Given the description of an element on the screen output the (x, y) to click on. 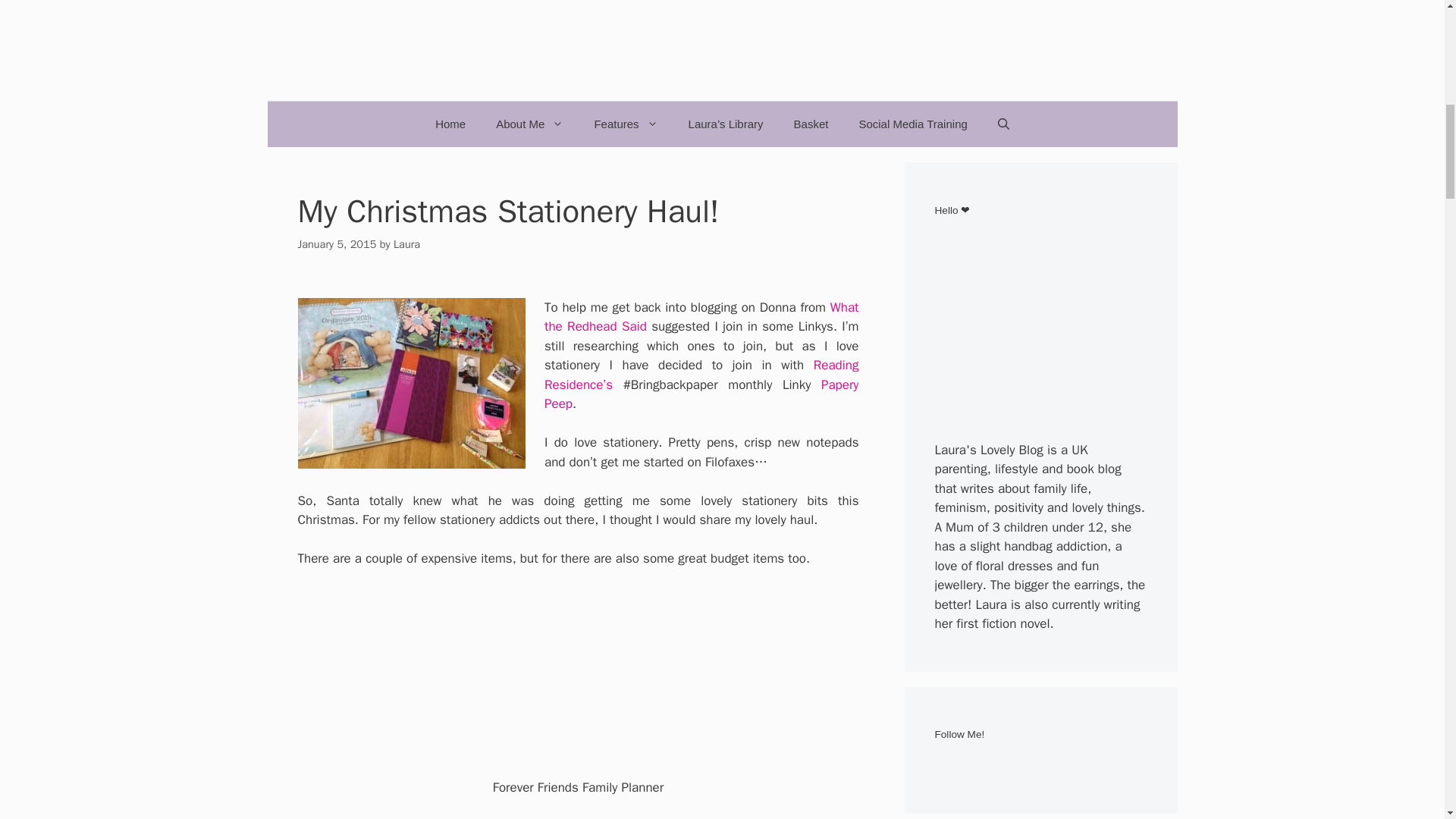
Laura (406, 243)
Home (450, 124)
About Me (529, 124)
View all posts by Laura (406, 243)
Papery Peep (701, 394)
Features (625, 124)
Social Media Training (912, 124)
Basket (811, 124)
What the Redhead Said (701, 316)
